Given the description of an element on the screen output the (x, y) to click on. 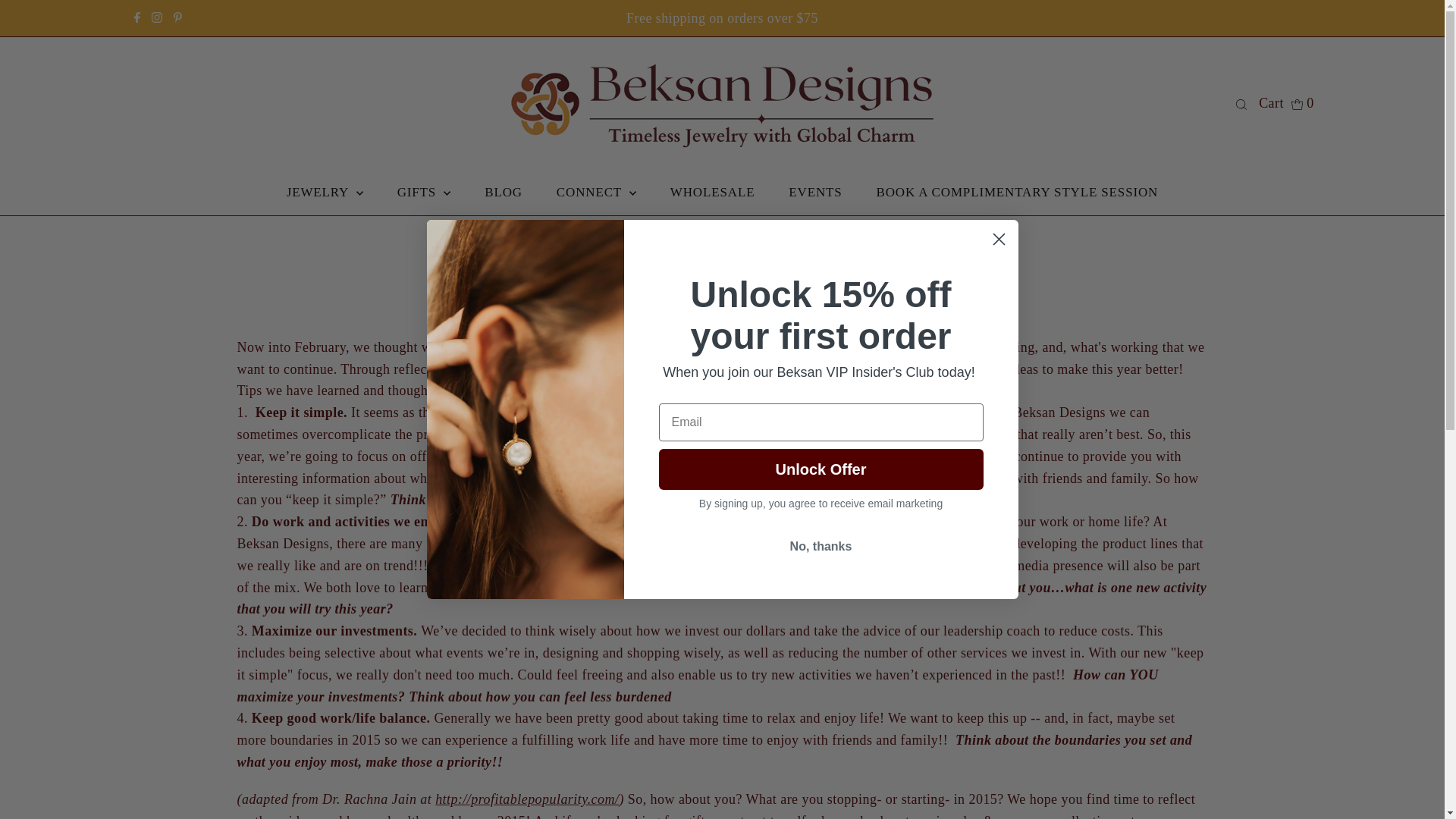
Home (646, 241)
